Given the description of an element on the screen output the (x, y) to click on. 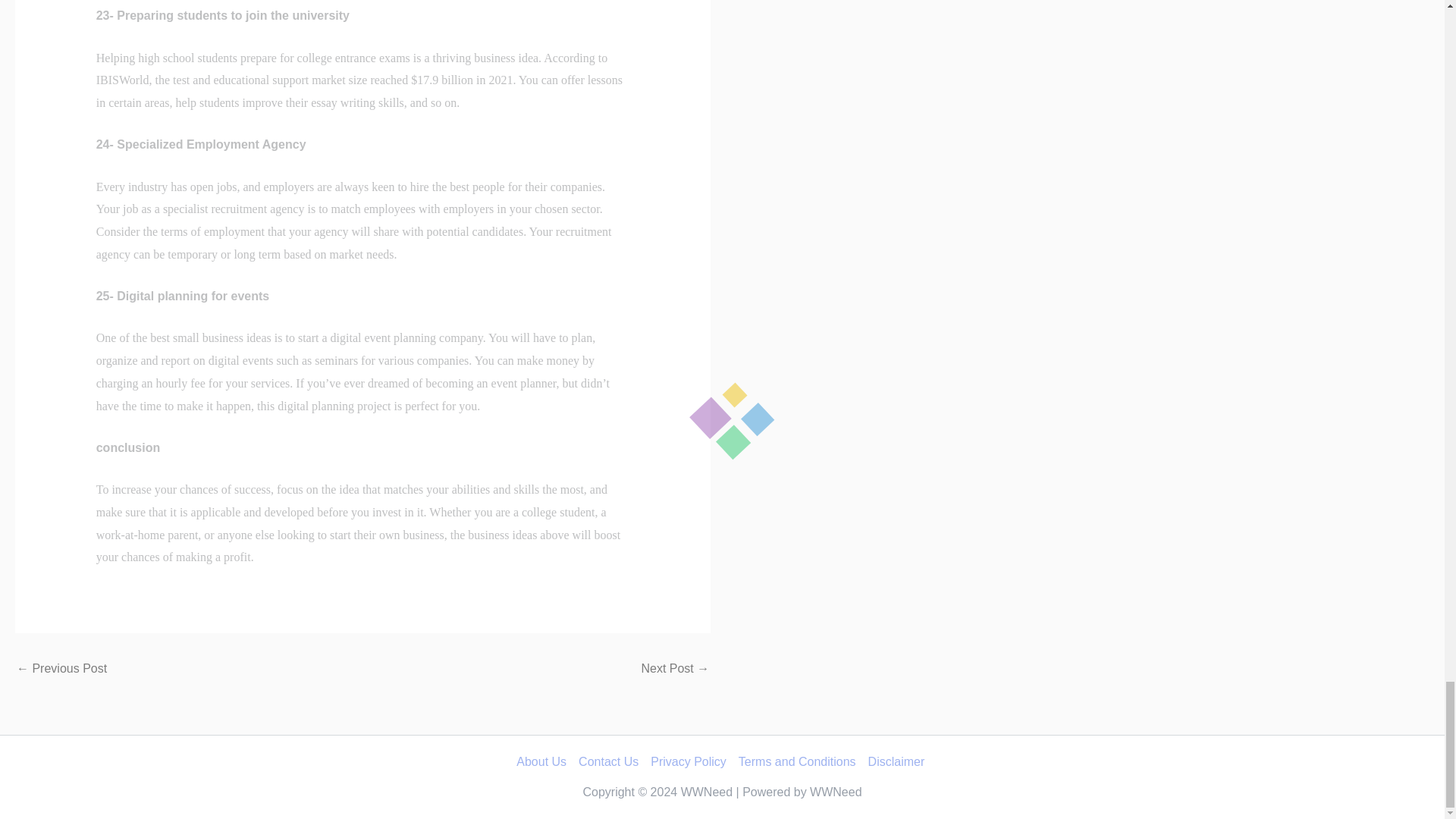
The Best Advantages of Electronic Commerce (61, 668)
Privacy Policy (688, 762)
About Us (544, 762)
Terms and Conditions (796, 762)
Which business is best for housewife? (674, 668)
Disclaimer  (894, 762)
Contact Us (608, 762)
